Given the description of an element on the screen output the (x, y) to click on. 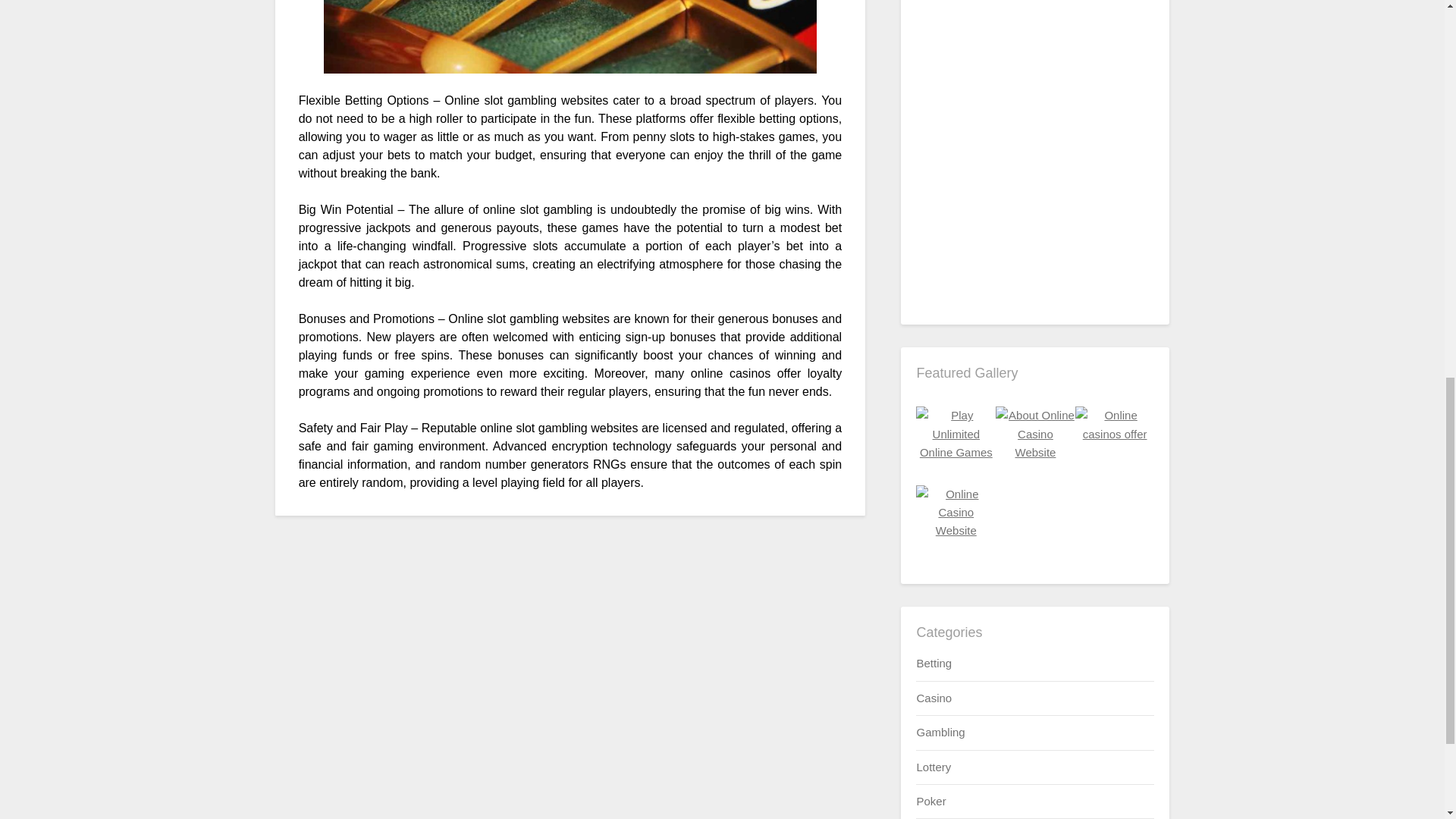
Betting (933, 662)
Casino (933, 697)
Gambling (939, 731)
Poker (929, 800)
Lottery (932, 766)
